Given the description of an element on the screen output the (x, y) to click on. 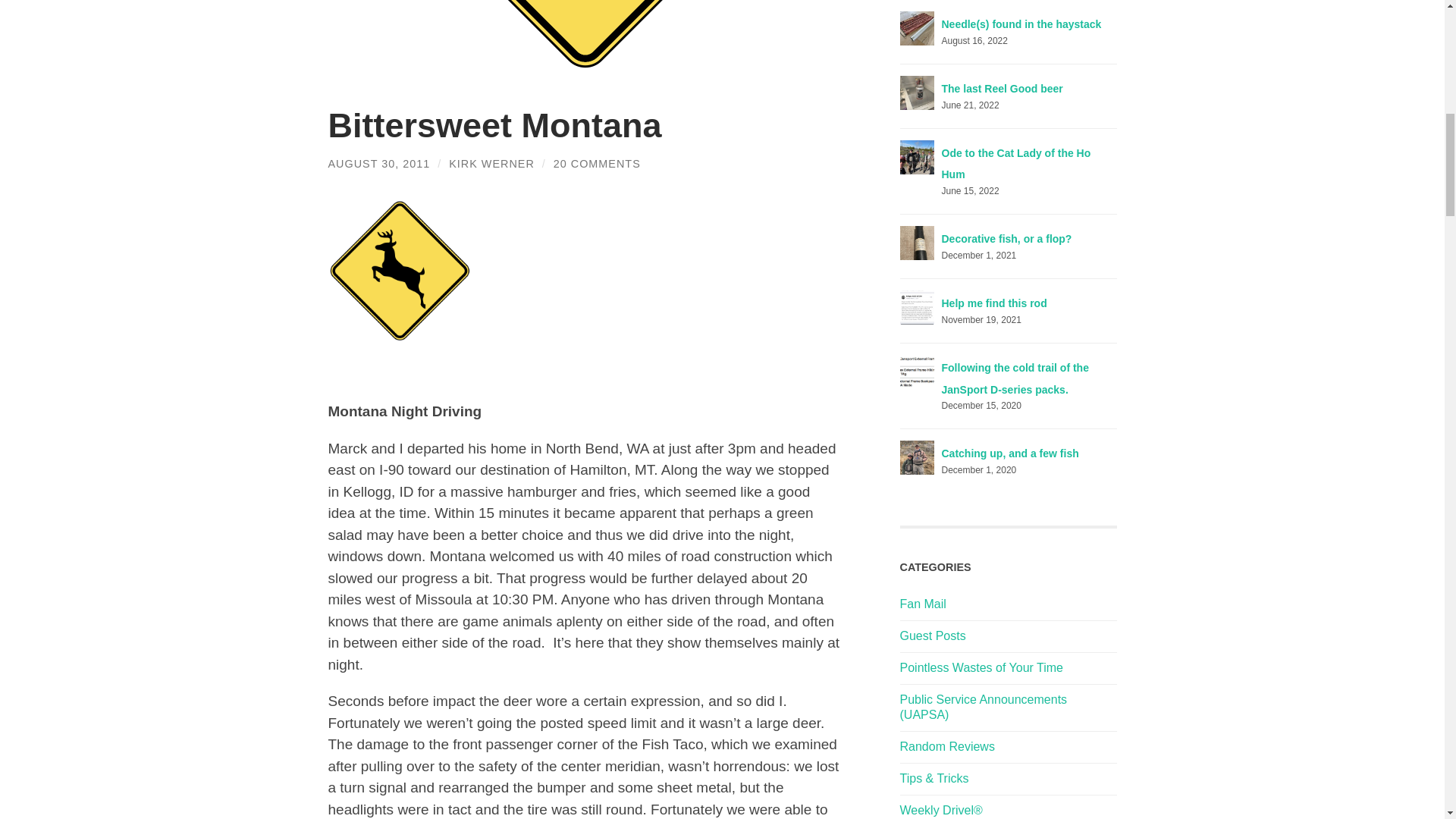
KIRK WERNER (491, 163)
AUGUST 30, 2011 (378, 163)
20 COMMENTS (596, 163)
Bittersweet Montana (494, 125)
Posts by Kirk Werner (491, 163)
